Given the description of an element on the screen output the (x, y) to click on. 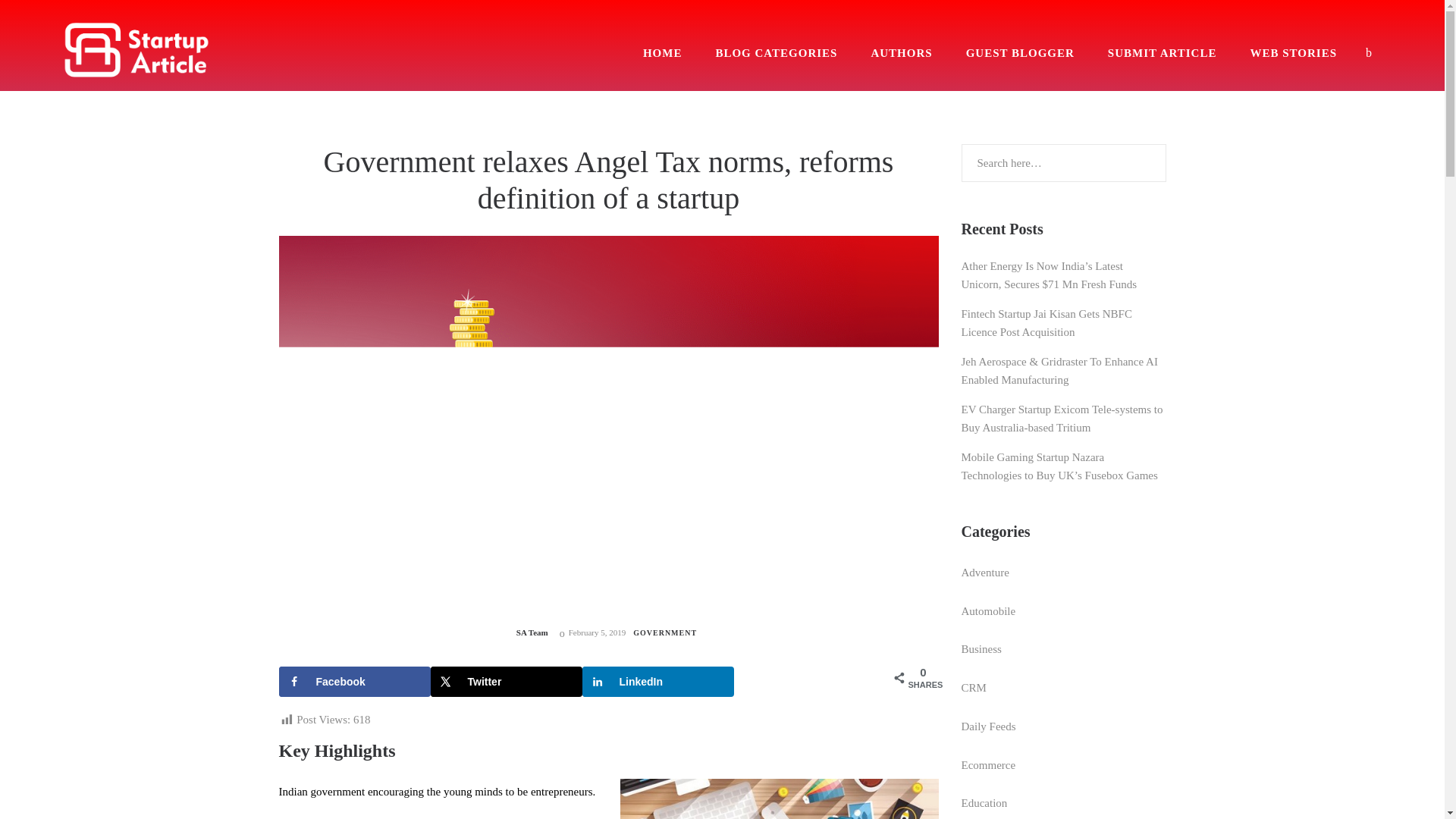
HOME (662, 52)
Share on X (506, 681)
AUTHORS (900, 52)
Share on Facebook (354, 681)
Share on LinkedIn (657, 681)
BLOG CATEGORIES (775, 52)
WEB STORIES (1292, 52)
GUEST BLOGGER (1019, 52)
SUBMIT ARTICLE (1162, 52)
Search for: (1063, 162)
